Given the description of an element on the screen output the (x, y) to click on. 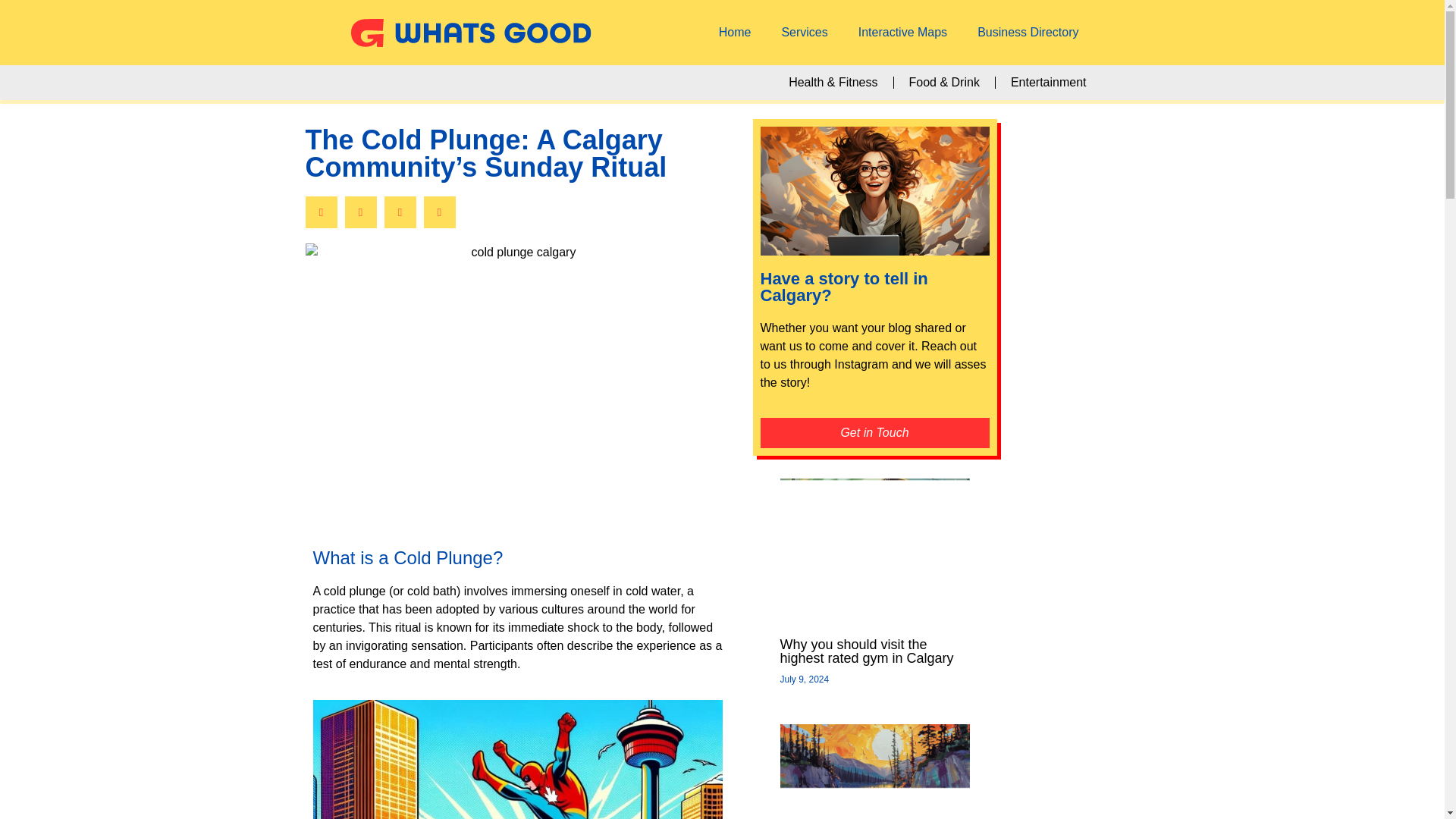
Services (804, 32)
Entertainment (1048, 82)
Get in Touch (874, 432)
Interactive Maps (902, 32)
Why you should visit the highest rated gym in Calgary (865, 651)
Home (735, 32)
Business Directory (1027, 32)
